Given the description of an element on the screen output the (x, y) to click on. 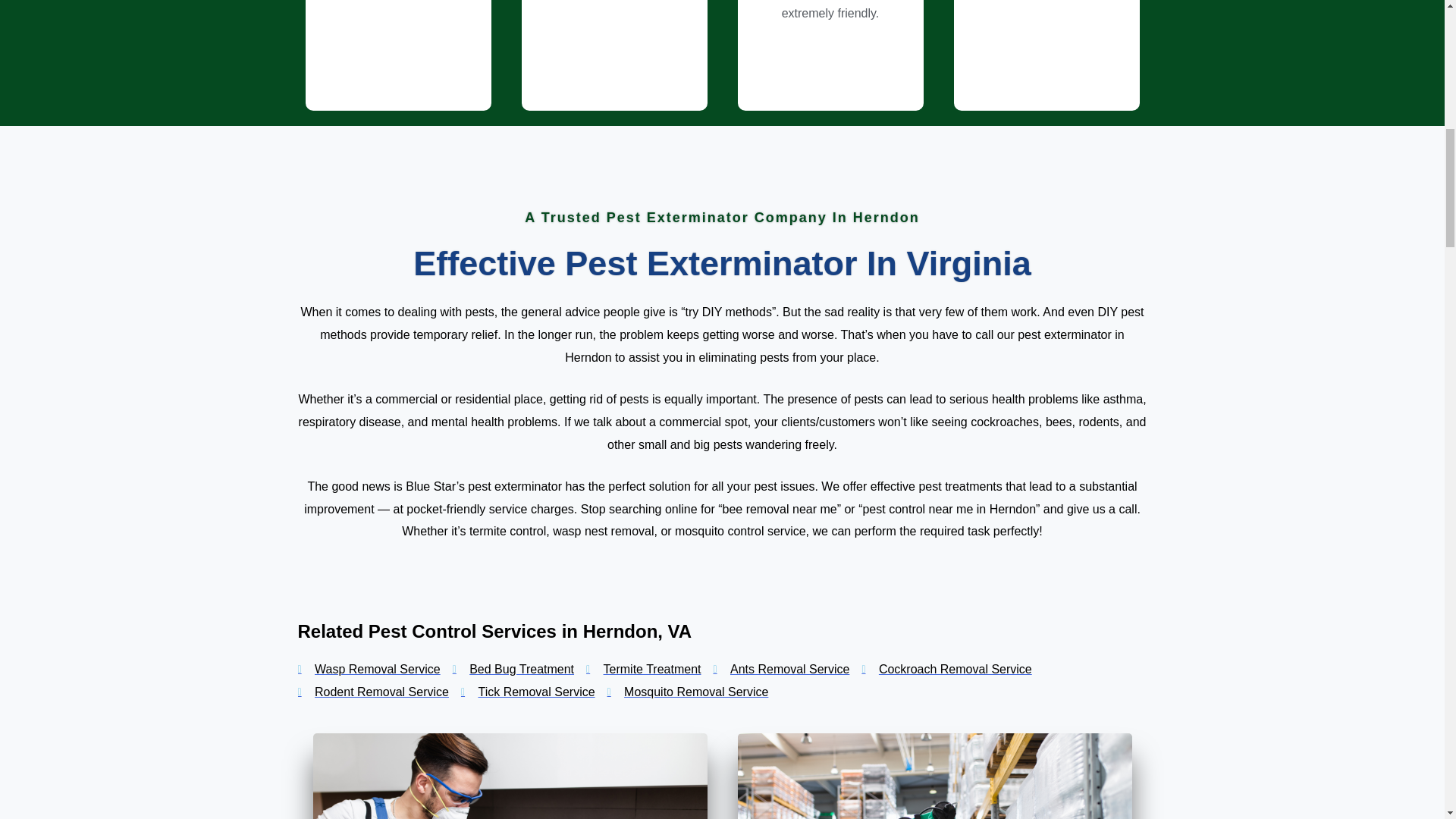
Wasp Removal Service (368, 669)
Ants Removal Service (780, 669)
Cockroach Removal Service (945, 669)
Bed Bug Treatment (512, 669)
Rodent Removal Service (372, 691)
Tick Removal Service (528, 691)
Termite Treatment (643, 669)
